Given the description of an element on the screen output the (x, y) to click on. 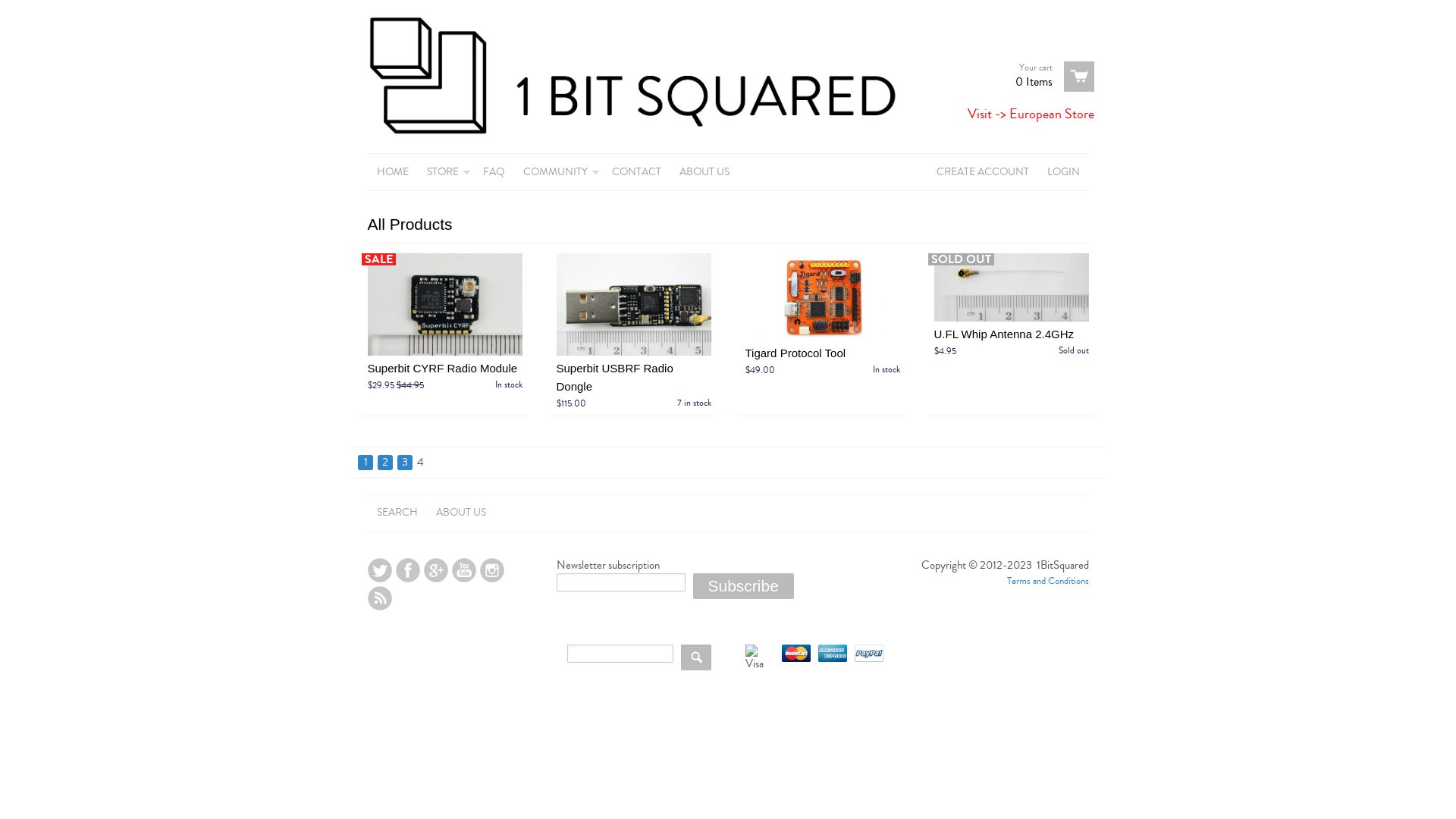
1 Element type: text (365, 462)
LOGIN Element type: text (1062, 171)
Terms and Conditions Element type: text (1047, 580)
Blog feed Element type: text (379, 598)
ABOUT US Element type: text (704, 171)
Superbit CYRF Radio Module
$29.95 $44.95
In stock
SALE Element type: text (444, 376)
STORE Element type: text (445, 171)
Facebook Element type: text (407, 570)
HOME Element type: text (392, 171)
View cart
Your cart
0 Items Element type: text (1049, 76)
Subscribe Element type: text (743, 586)
ABOUT US Element type: text (460, 512)
Google+ Element type: text (435, 570)
COMMUNITY Element type: text (558, 171)
Twitter Element type: text (379, 570)
Go Element type: text (695, 657)
Visit -> European Store Element type: text (1030, 113)
SEARCH Element type: text (396, 512)
FAQ Element type: text (493, 171)
CREATE ACCOUNT Element type: text (981, 171)
Superbit USBRF Radio Dongle
$115.00
7 in stock Element type: text (633, 385)
2 Element type: text (384, 462)
YouTube Element type: text (463, 570)
CONTACT Element type: text (635, 171)
Tigard Protocol Tool
$49.00
In stock Element type: text (821, 361)
U.FL Whip Antenna 2.4GHz
$4.95
Sold out
SOLD OUT Element type: text (1011, 342)
3 Element type: text (404, 462)
Instagram Element type: text (491, 570)
